Given the description of an element on the screen output the (x, y) to click on. 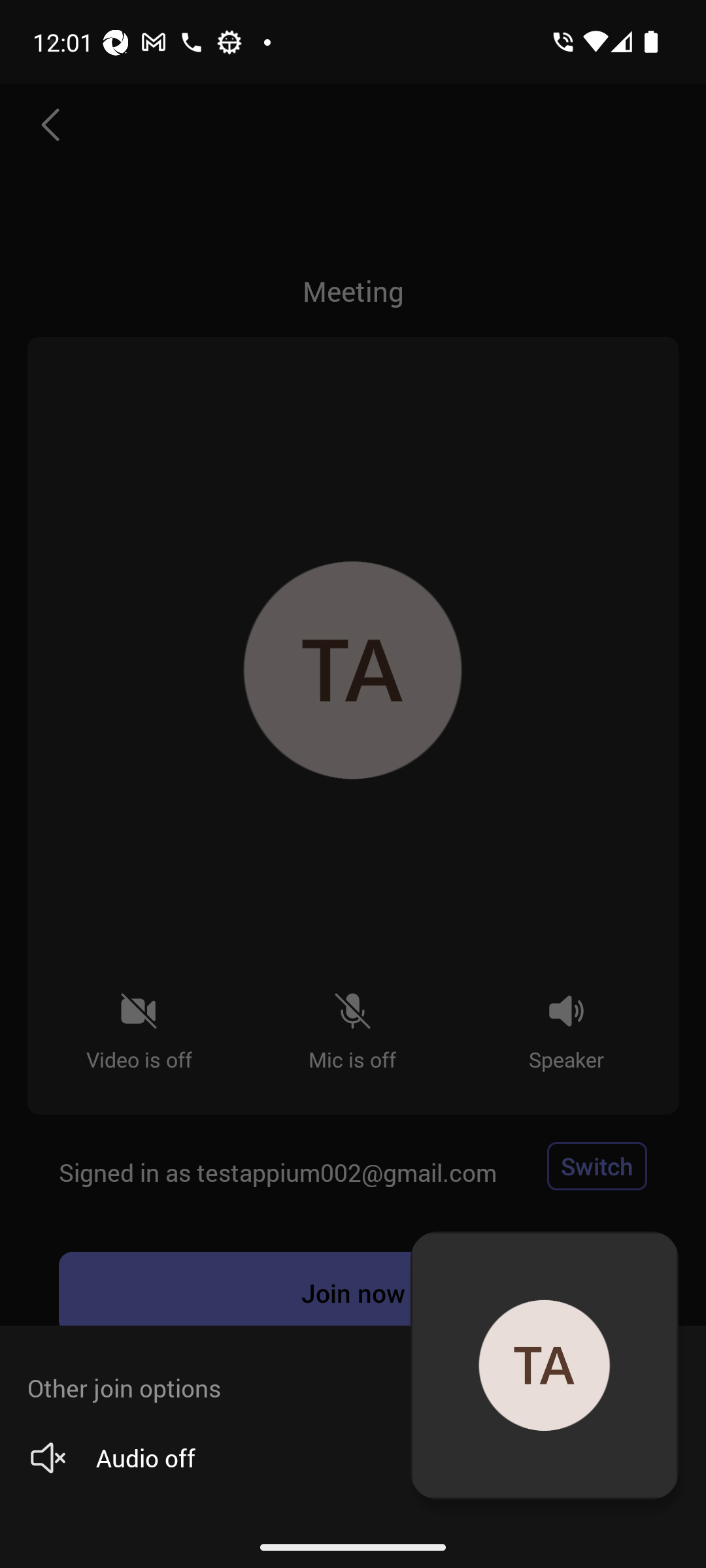
Audio off (346, 1458)
